Given the description of an element on the screen output the (x, y) to click on. 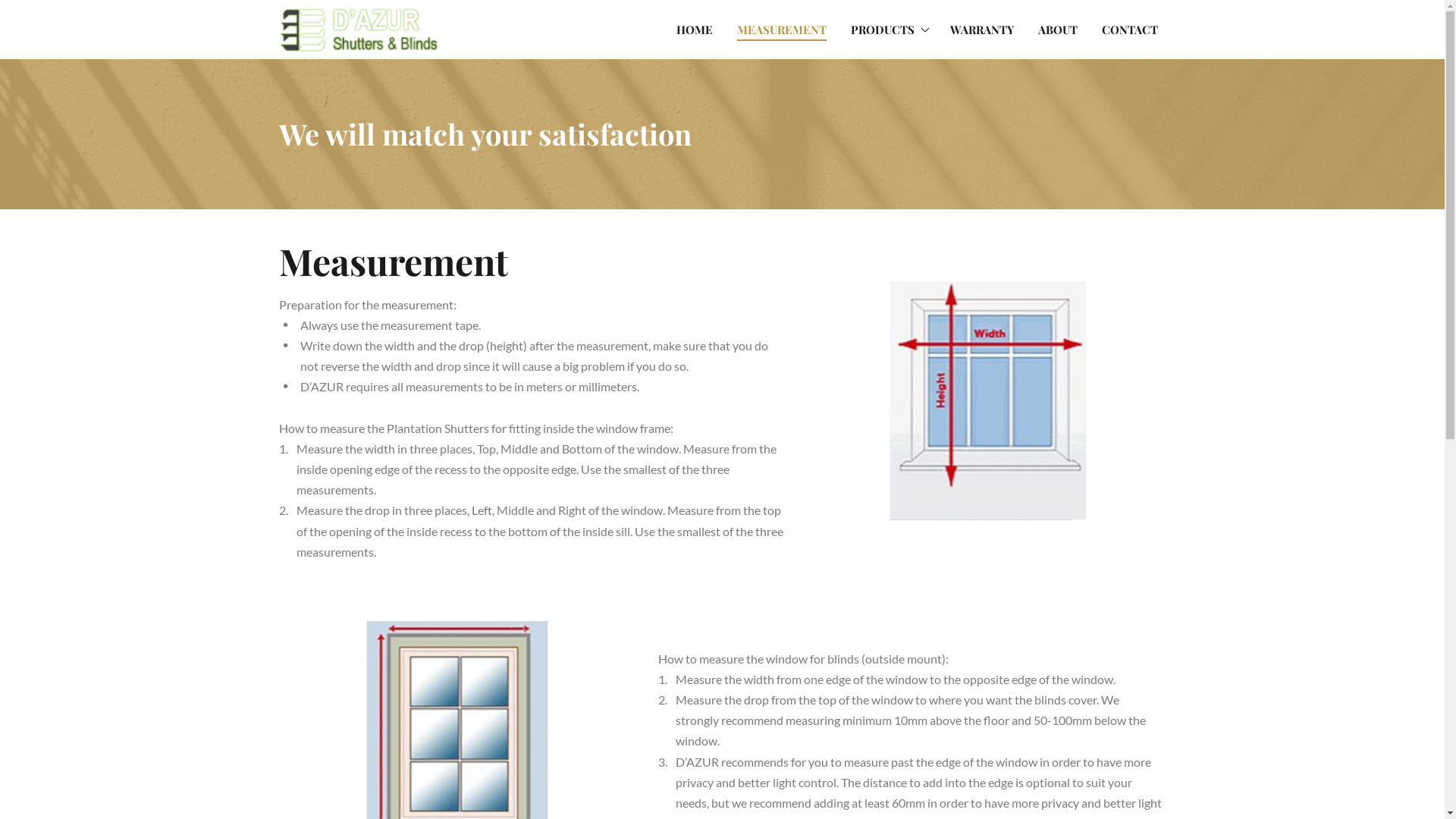
Example Window Measurement Element type: hover (987, 400)
HOME Element type: text (693, 29)
ABOUT Element type: text (1057, 29)
PRODUCTS Element type: text (887, 29)
MEASUREMENT Element type: text (781, 29)
WARRANTY Element type: text (981, 29)
CONTACT Element type: text (1129, 29)
